Given the description of an element on the screen output the (x, y) to click on. 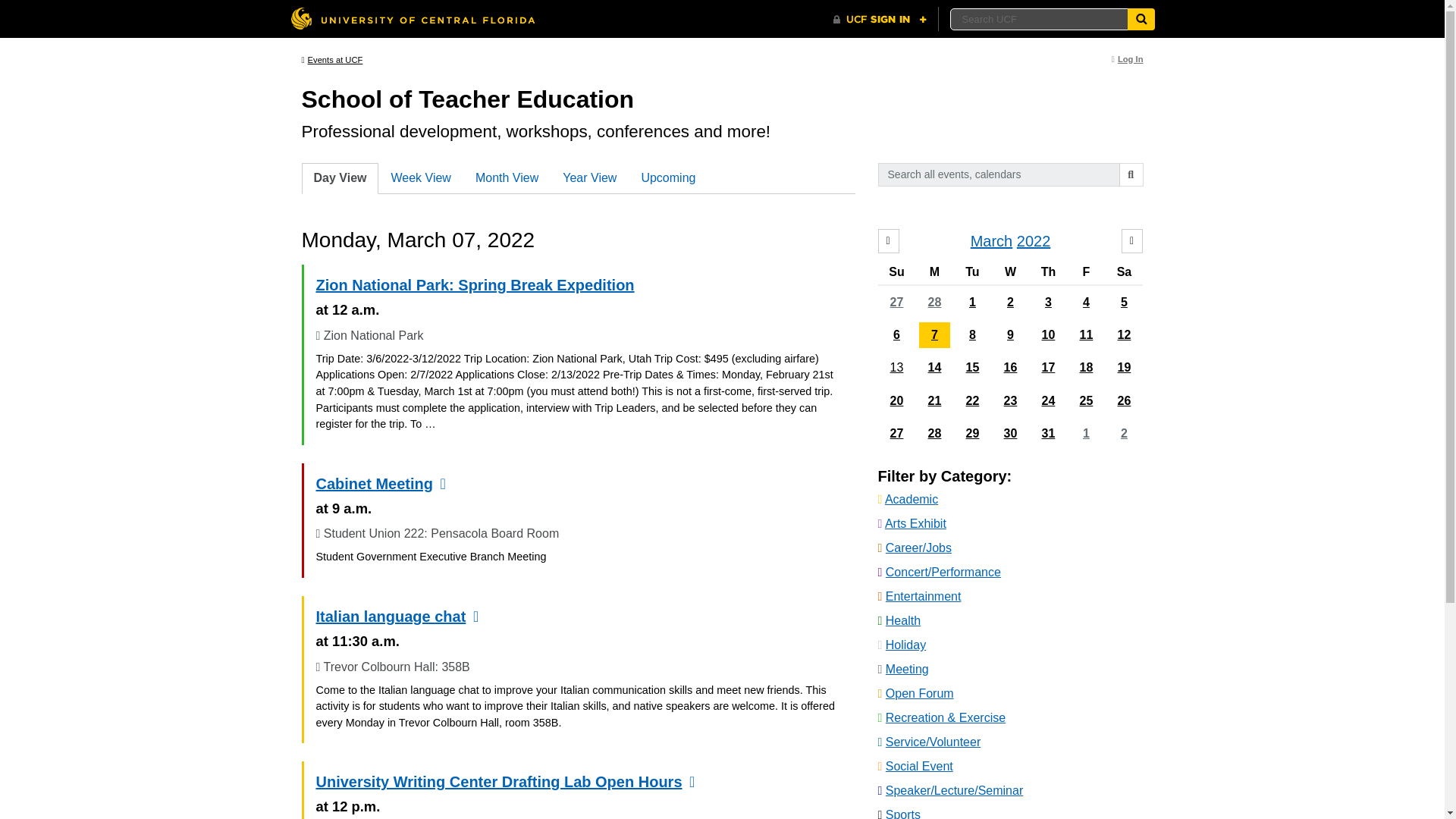
Zion National Park: Spring Break Expedition (474, 284)
28 (933, 302)
Year View (589, 178)
Italian language chat (390, 616)
27 (895, 302)
Week View (420, 178)
Log In (1127, 59)
SEARCH (1130, 174)
University Writing Center Drafting Lab Open Hours (498, 781)
Events at UCF (331, 59)
